Given the description of an element on the screen output the (x, y) to click on. 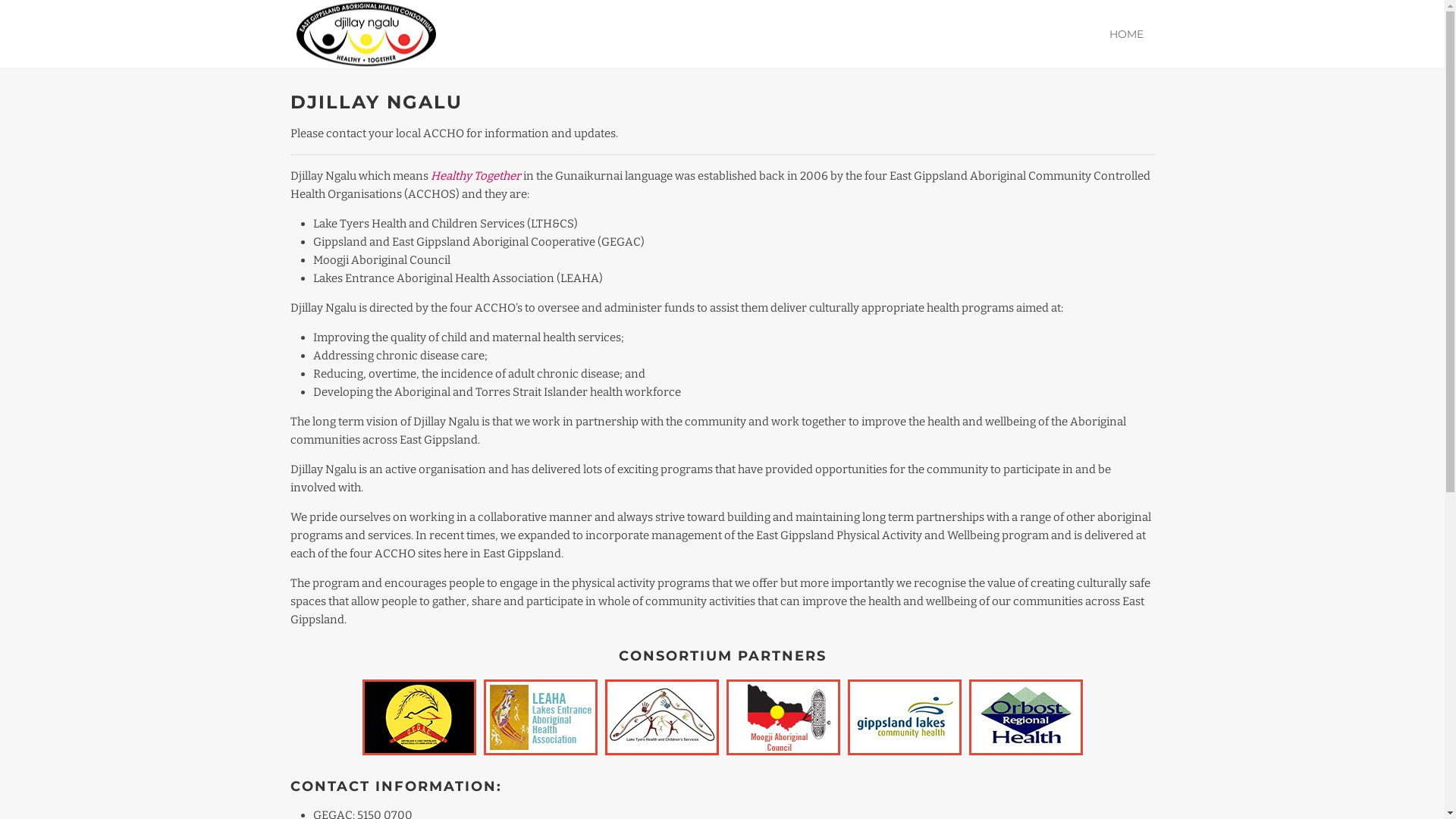
HOME Element type: text (1126, 34)
DJILLAY NGALU Element type: text (375, 101)
